Given the description of an element on the screen output the (x, y) to click on. 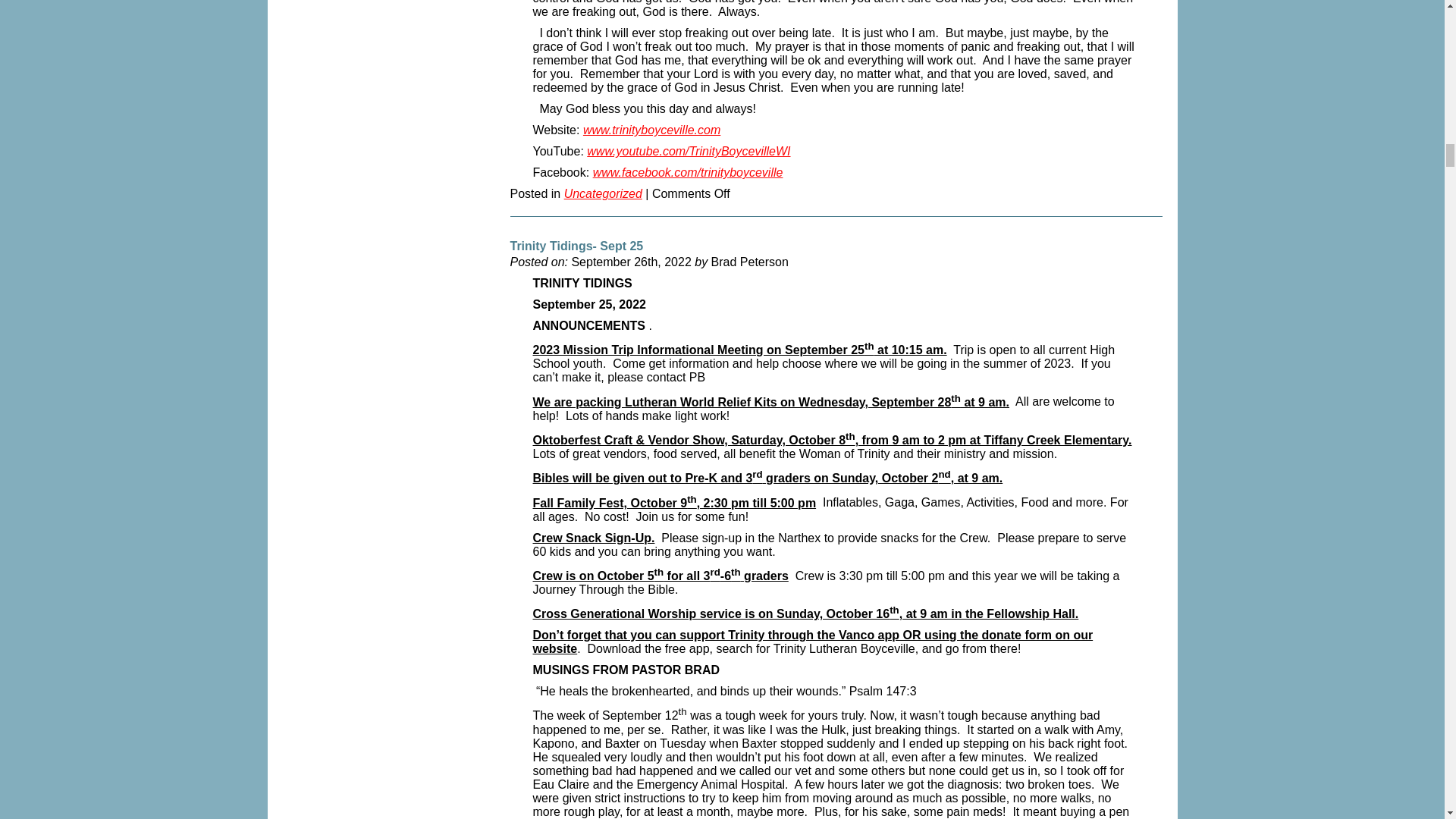
Uncategorized (603, 196)
Trinity Tidings- Sept 25 (576, 248)
www.trinityboyceville.com (651, 132)
